Given the description of an element on the screen output the (x, y) to click on. 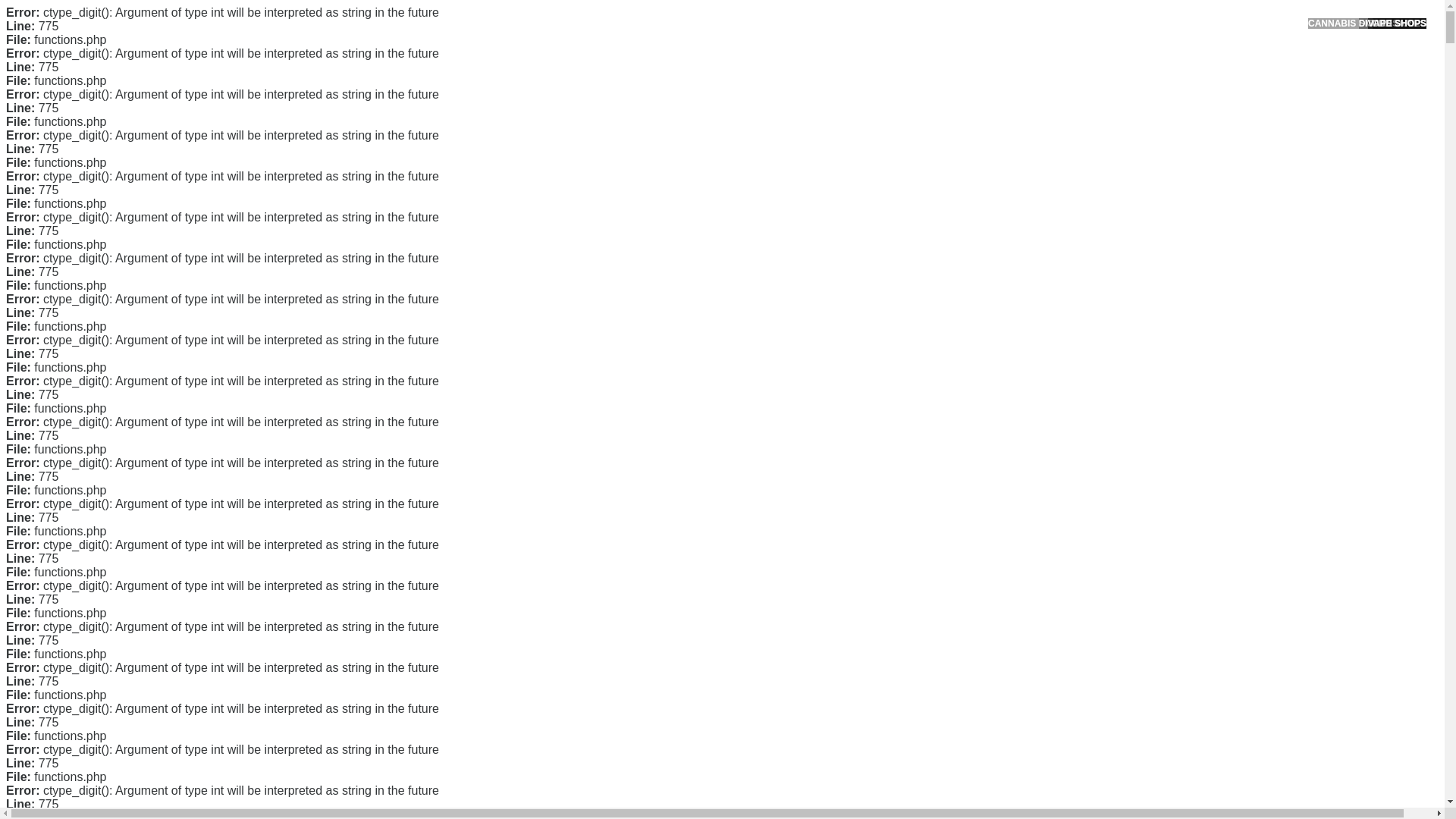
Log in (980, 588)
OSCARCOLLECTIVE.CO.UK (432, 28)
ADMINISTRATOR (417, 118)
Skip to content (34, 9)
DMCA Policy (996, 282)
Search (1050, 85)
Terms of Use (996, 330)
Search (1050, 85)
Disclaimer (990, 354)
Blog (976, 510)
Privacy Policy (999, 306)
September 2020 (1005, 432)
Search (1050, 85)
RSS (977, 612)
Search for: (1049, 47)
